Given the description of an element on the screen output the (x, y) to click on. 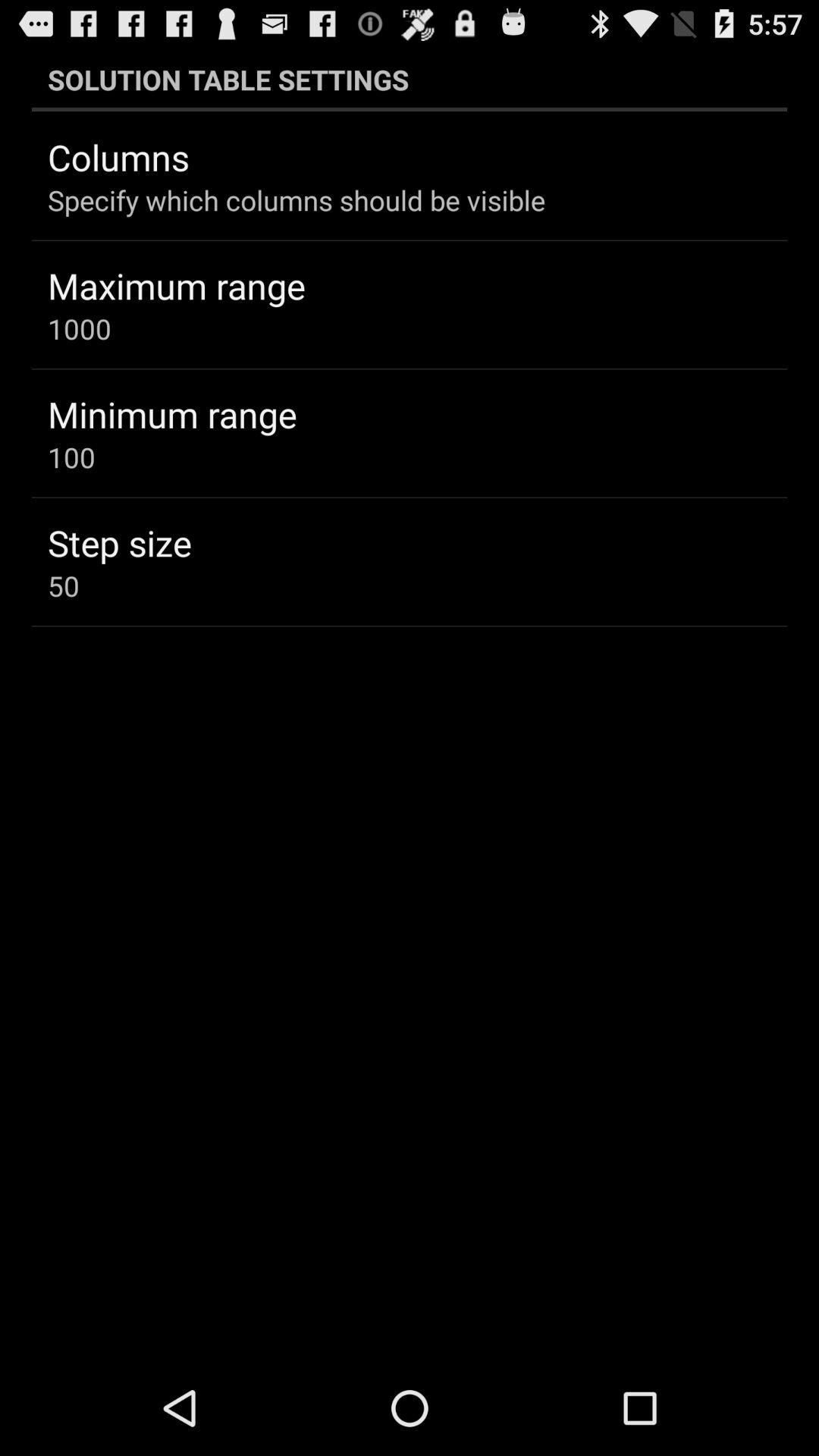
select the minimum range item (171, 414)
